Given the description of an element on the screen output the (x, y) to click on. 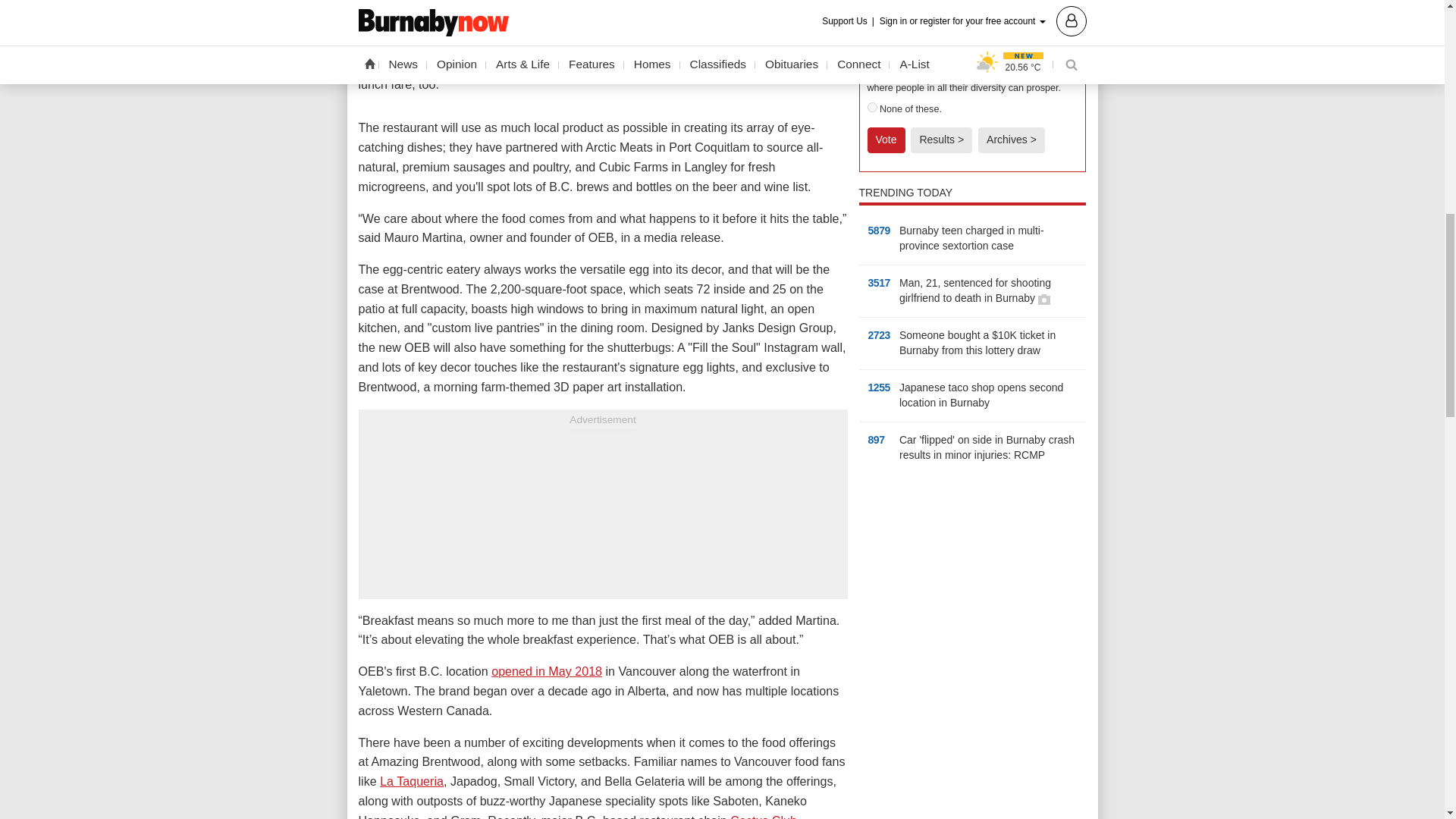
120310 (872, 107)
Has a gallery (1043, 299)
120308 (872, 37)
120309 (872, 71)
